Given the description of an element on the screen output the (x, y) to click on. 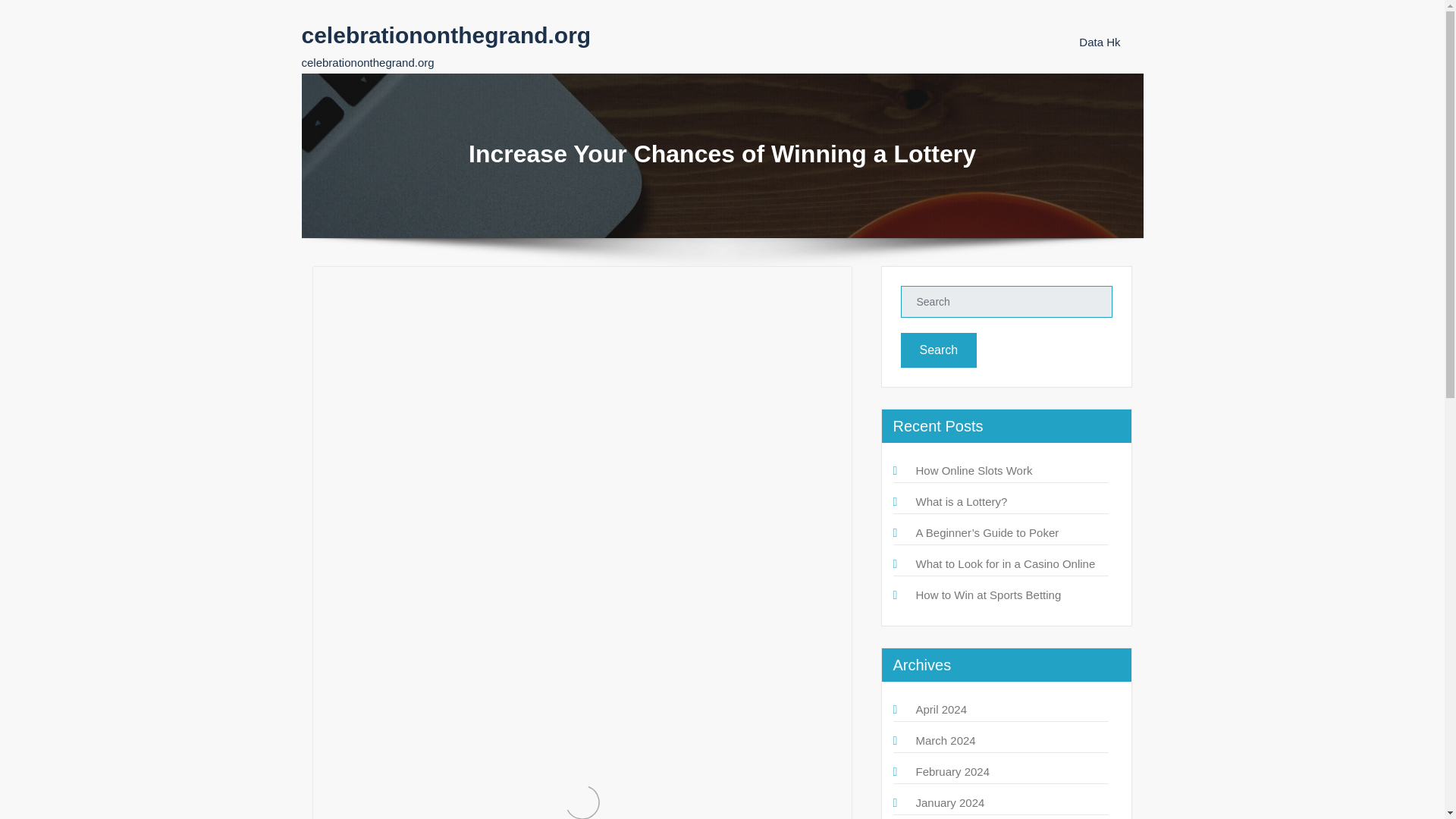
What is a Lottery? (961, 501)
March 2024 (945, 739)
celebrationonthegrand.org (446, 34)
celebrationonthegrand (409, 340)
How to Win at Sports Betting (988, 594)
How Online Slots Work (973, 470)
January 2024 (950, 802)
Search (938, 349)
Data Hk (1098, 41)
April 2024 (941, 708)
